Given the description of an element on the screen output the (x, y) to click on. 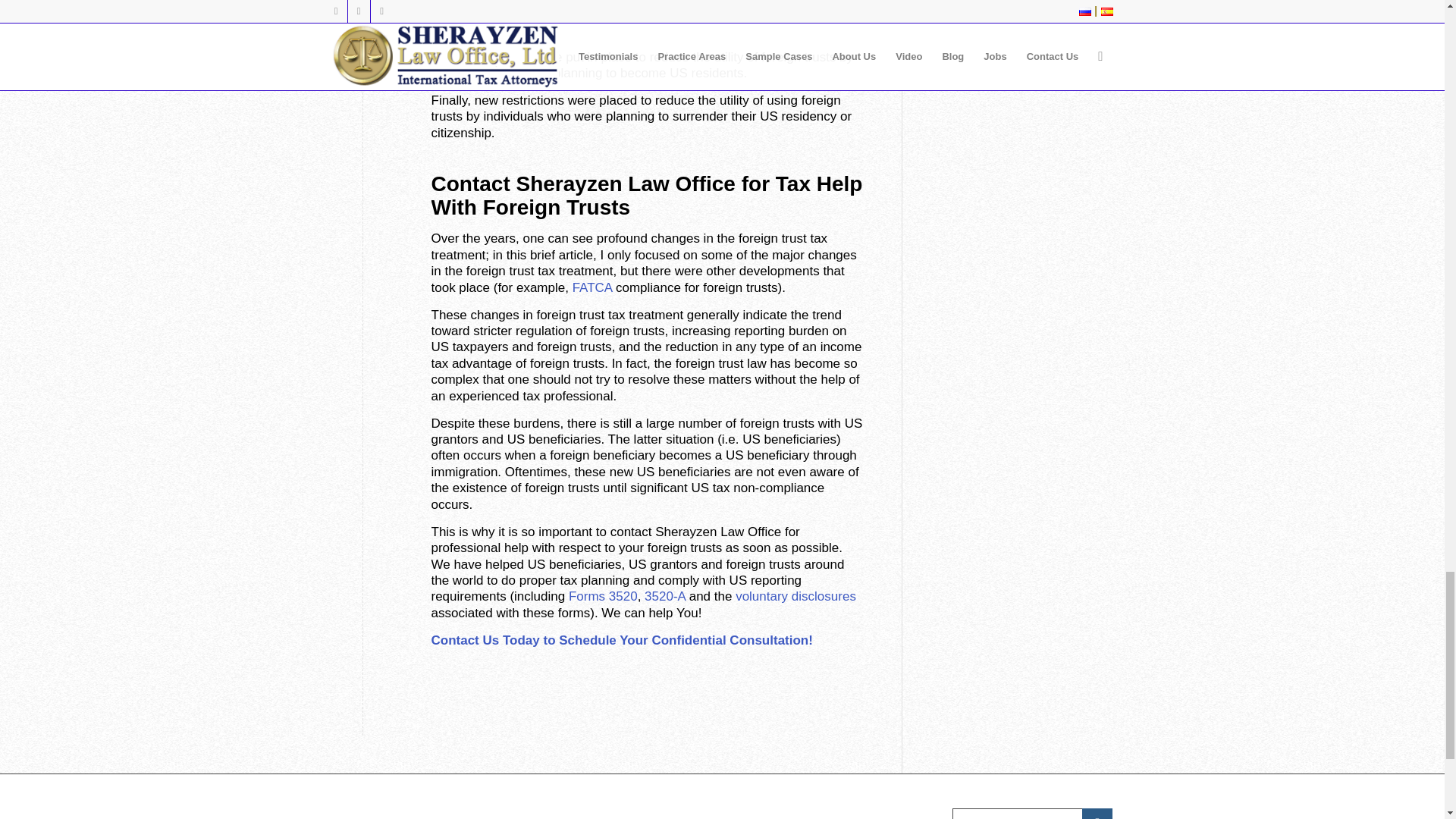
voluntary disclosures (795, 595)
Contact Us Today to Schedule Your Confidential Consultation! (621, 640)
FATCA (592, 287)
Forms 3520 (603, 595)
3520-A (665, 595)
